Given the description of an element on the screen output the (x, y) to click on. 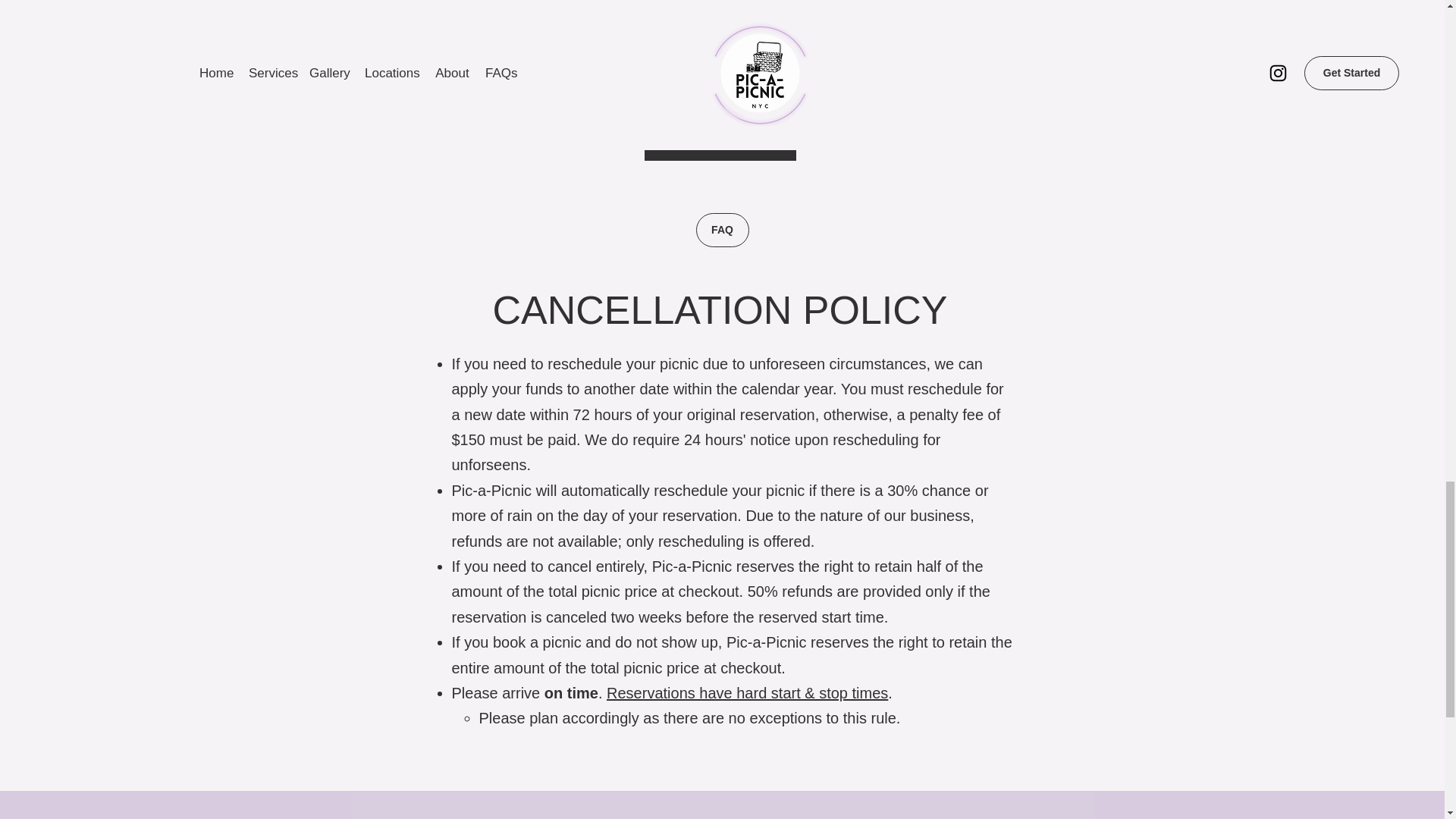
FAQ (722, 229)
Submit (720, 141)
